Given the description of an element on the screen output the (x, y) to click on. 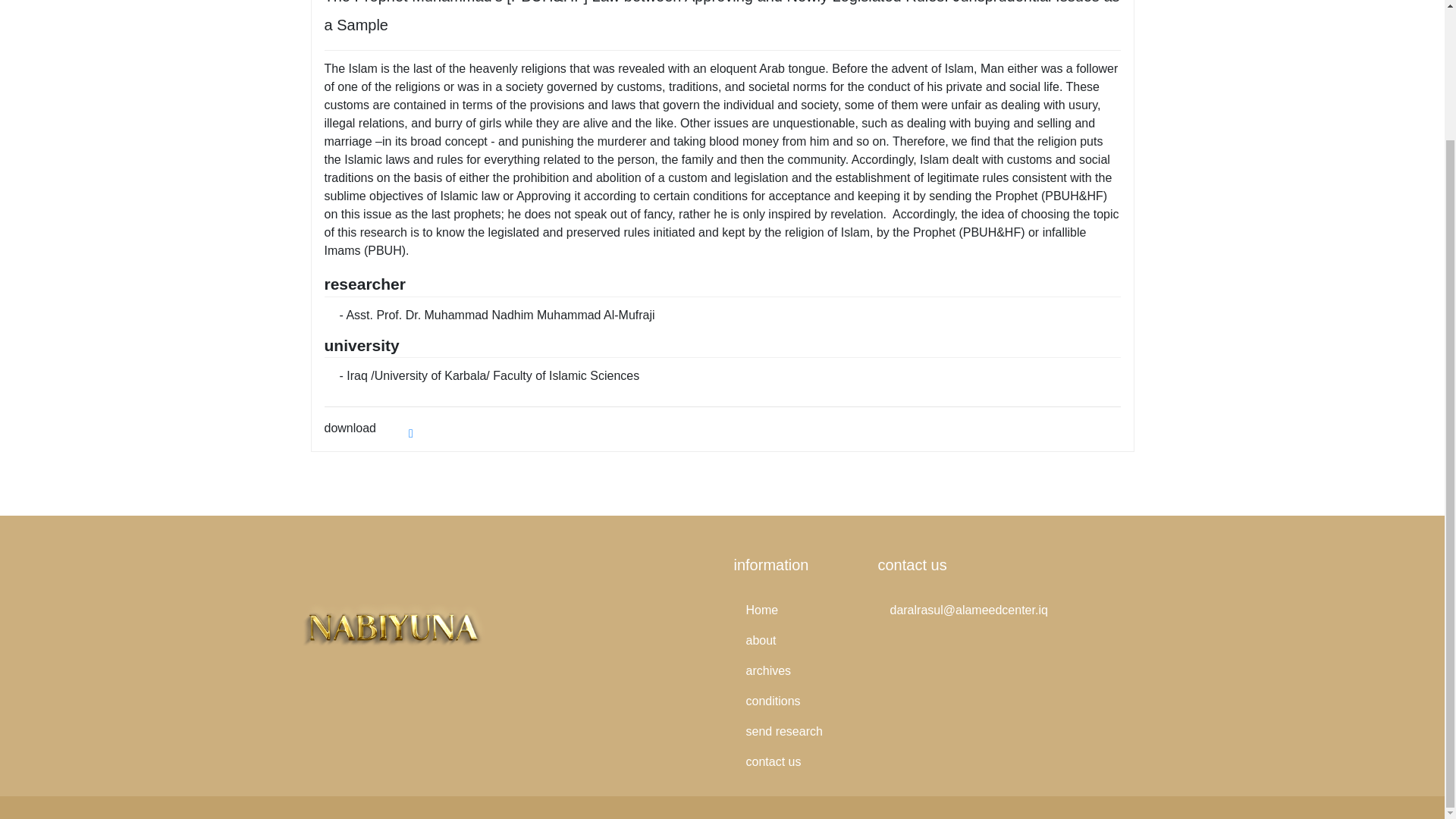
Home (794, 610)
conditions (794, 701)
about (794, 640)
send research (794, 731)
archives (794, 671)
contact us (794, 761)
